Given the description of an element on the screen output the (x, y) to click on. 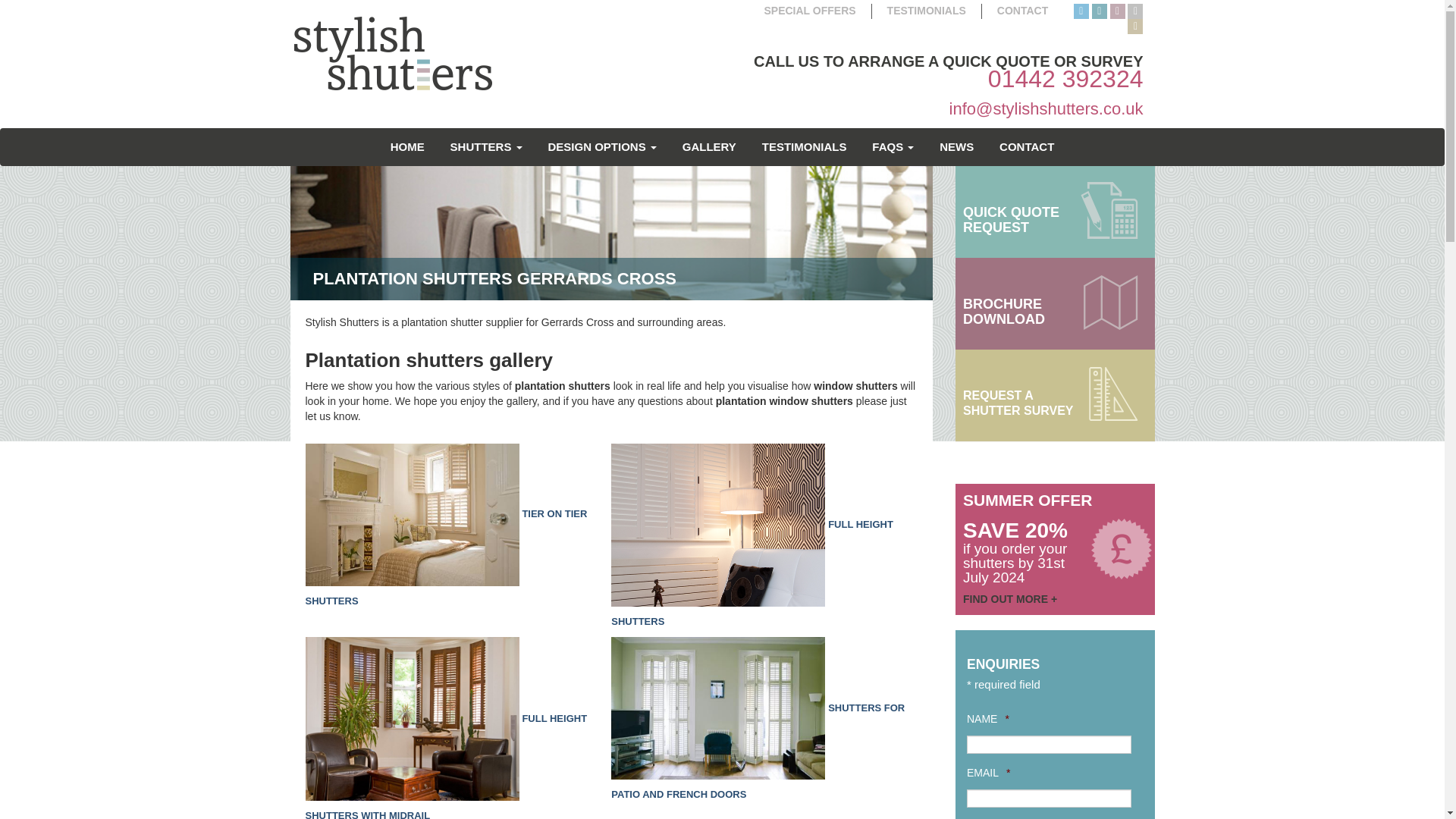
FAQs (892, 146)
Full height shutters with a midrail (445, 765)
Gallery (709, 146)
NEWS (956, 146)
CONTACT (1022, 10)
HOME (406, 146)
Full height shutters (718, 523)
DESIGN OPTIONS (600, 146)
Contact (1026, 146)
TIER ON TIER SHUTTERS (445, 556)
QUICK QUOTE REQUEST (1054, 211)
FULL HEIGHT SHUTTERS (752, 572)
Home (406, 146)
SPECIAL OFFERS (810, 10)
SHUTTERS (486, 146)
